Given the description of an element on the screen output the (x, y) to click on. 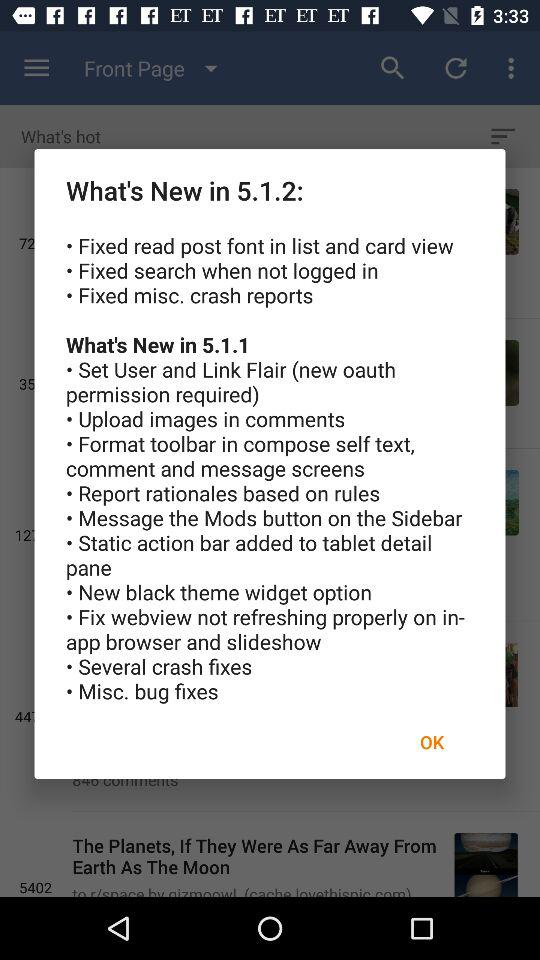
jump to ok icon (431, 741)
